Given the description of an element on the screen output the (x, y) to click on. 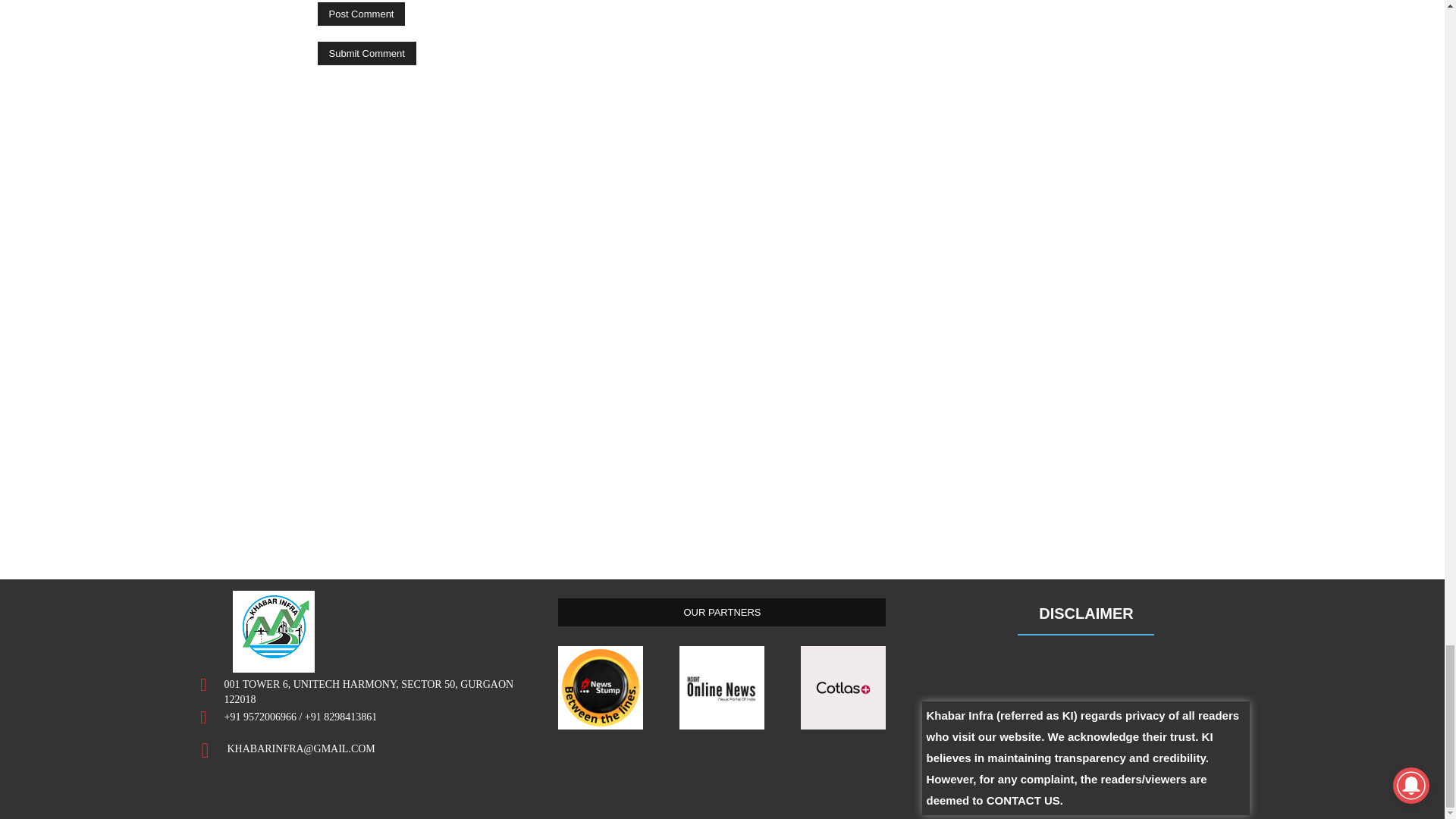
Post Comment (360, 13)
Submit Comment (365, 53)
